Given the description of an element on the screen output the (x, y) to click on. 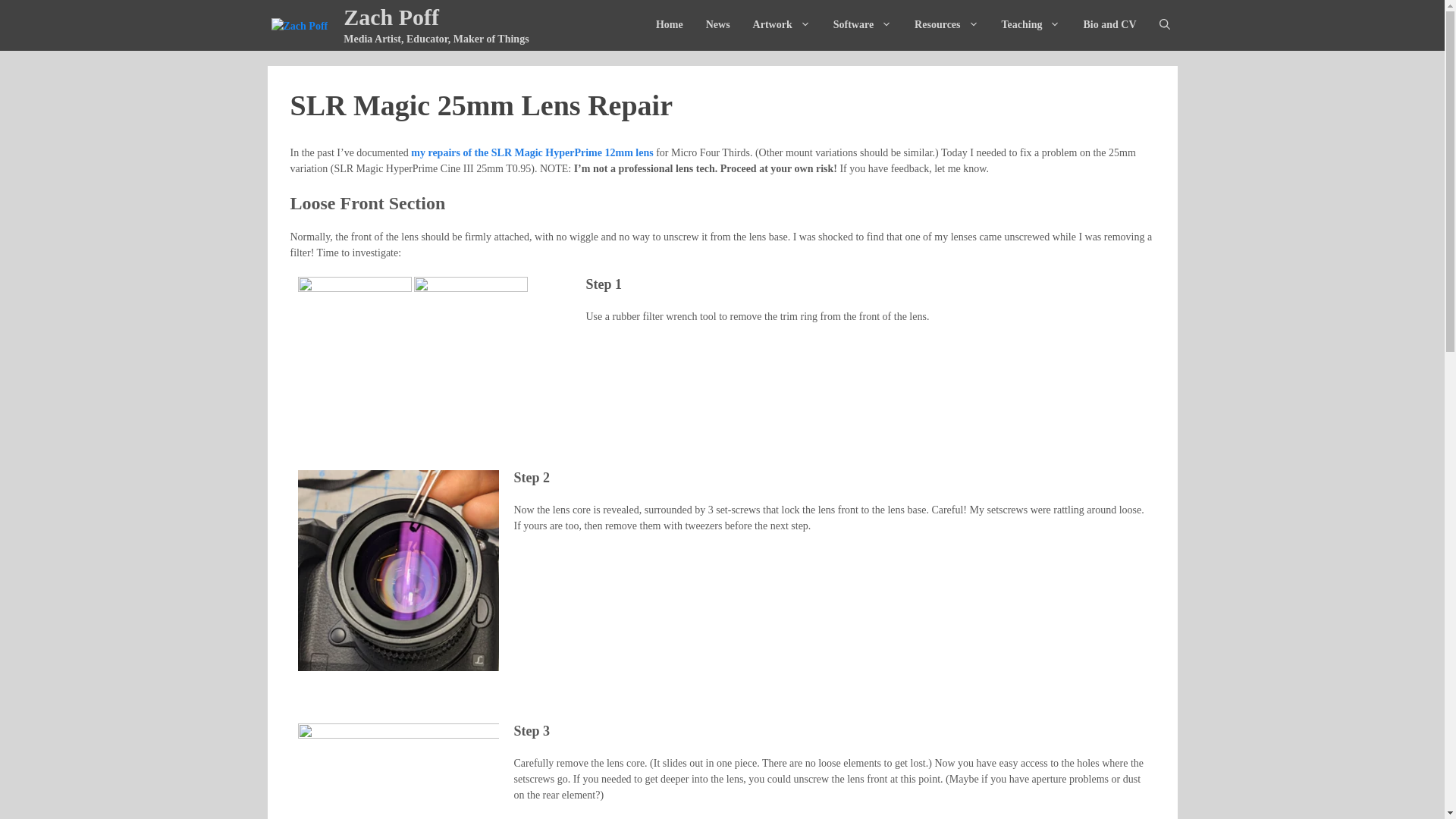
Home (669, 24)
News (717, 24)
Zach Poff (391, 16)
Artwork (781, 24)
